Given the description of an element on the screen output the (x, y) to click on. 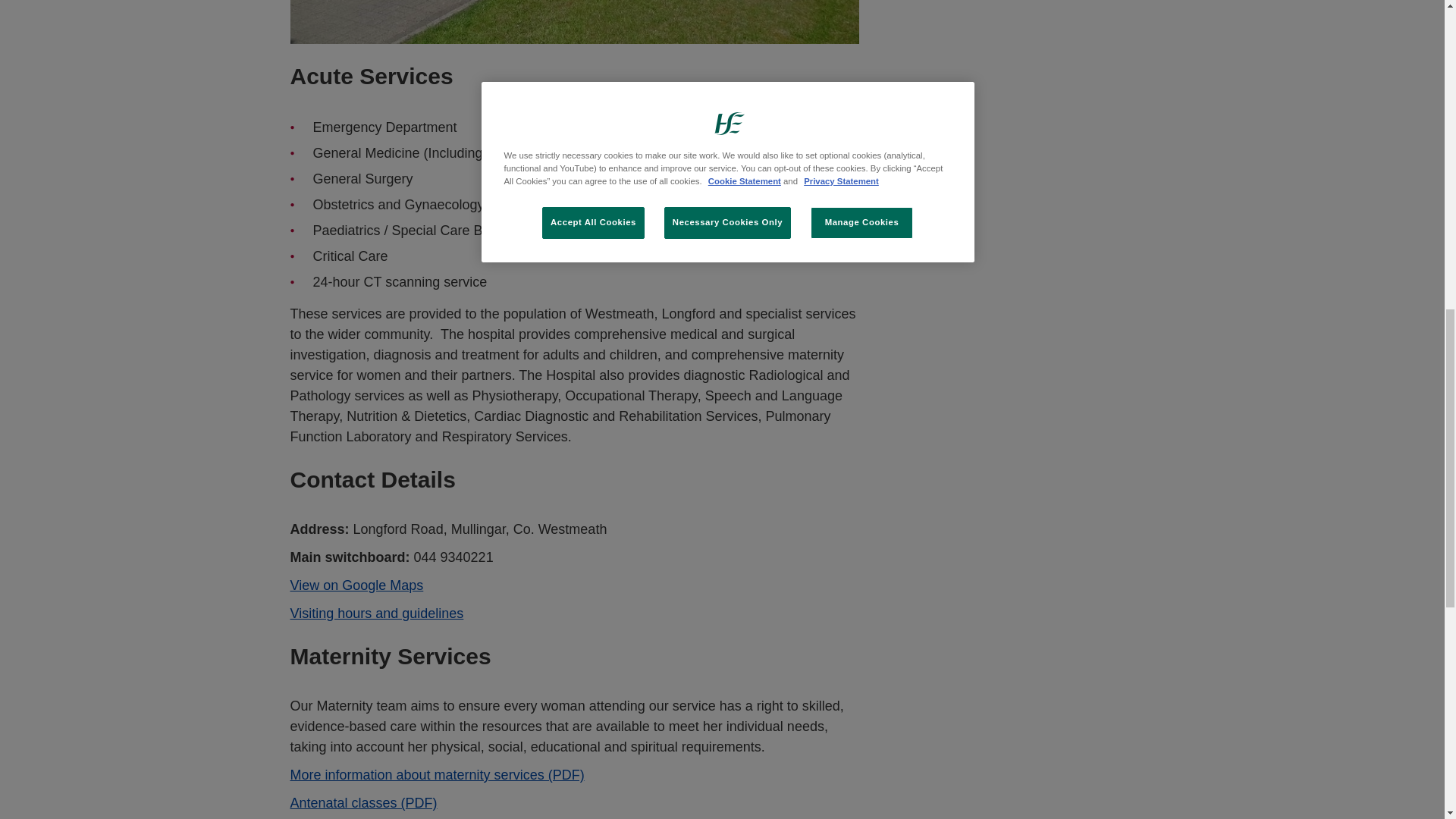
Mullingar Hospital (574, 22)
